Given the description of an element on the screen output the (x, y) to click on. 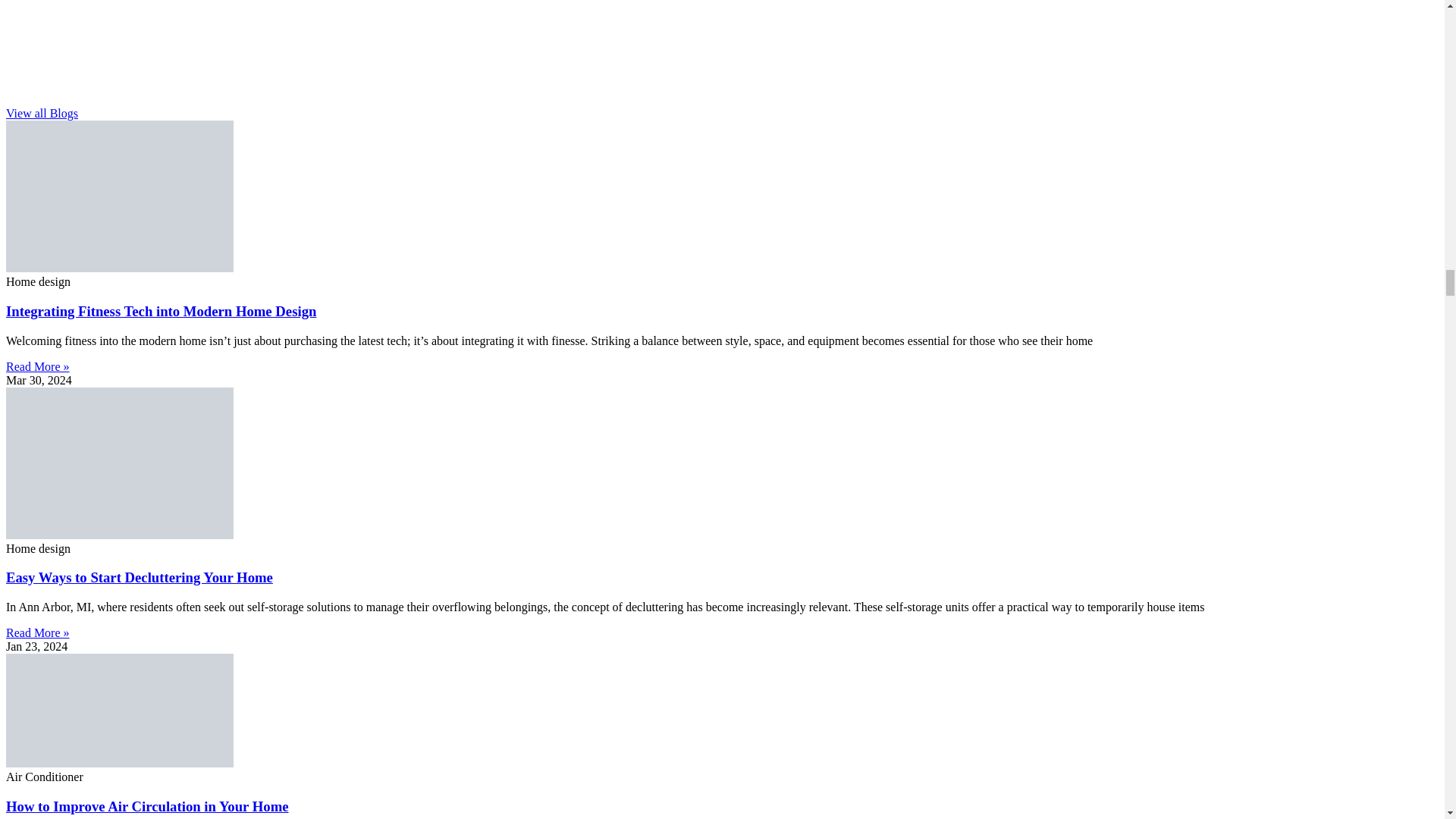
Integrating Fitness Tech into Modern Home Design (160, 311)
